Given the description of an element on the screen output the (x, y) to click on. 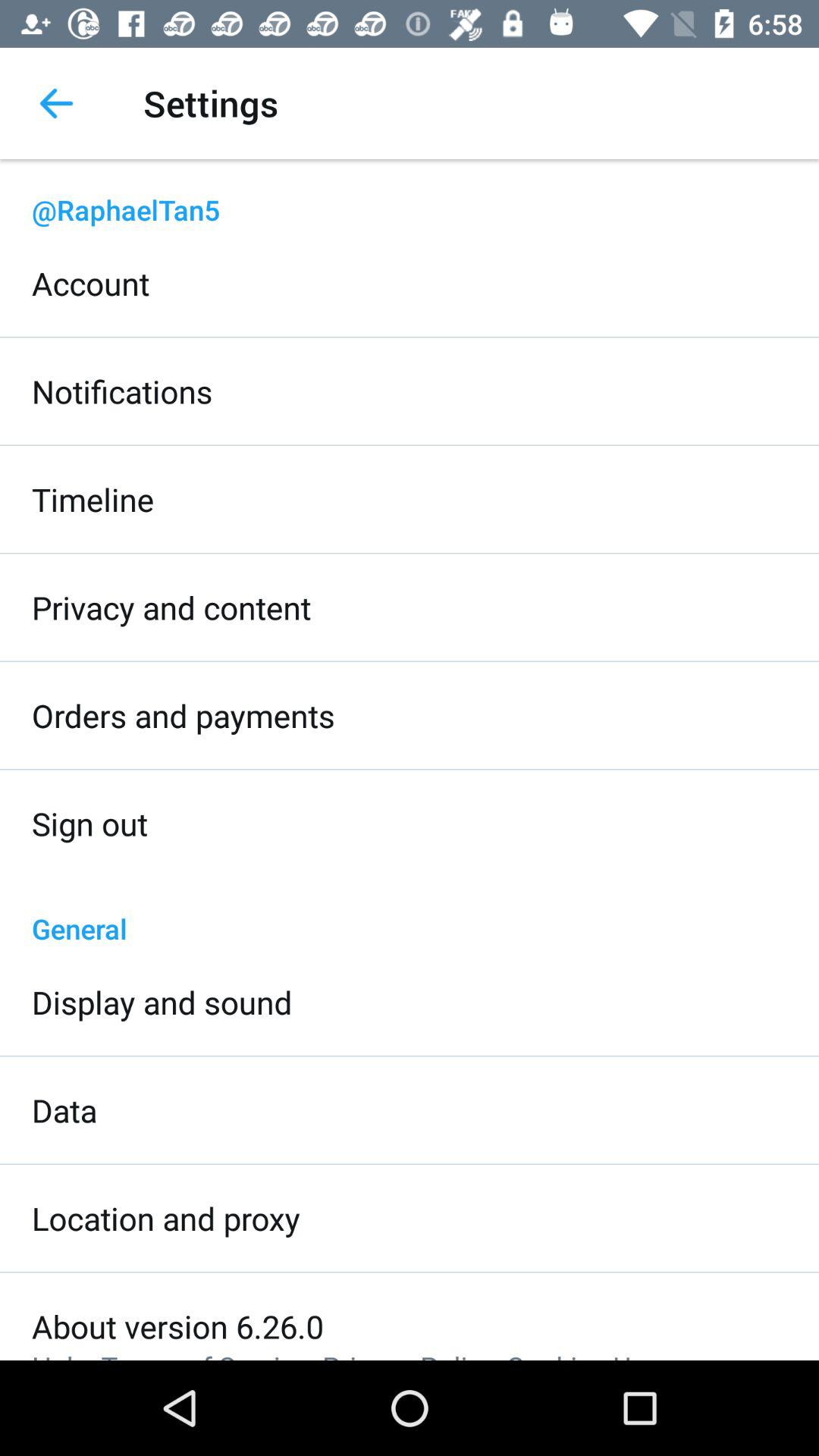
click the about version 6 (177, 1325)
